Given the description of an element on the screen output the (x, y) to click on. 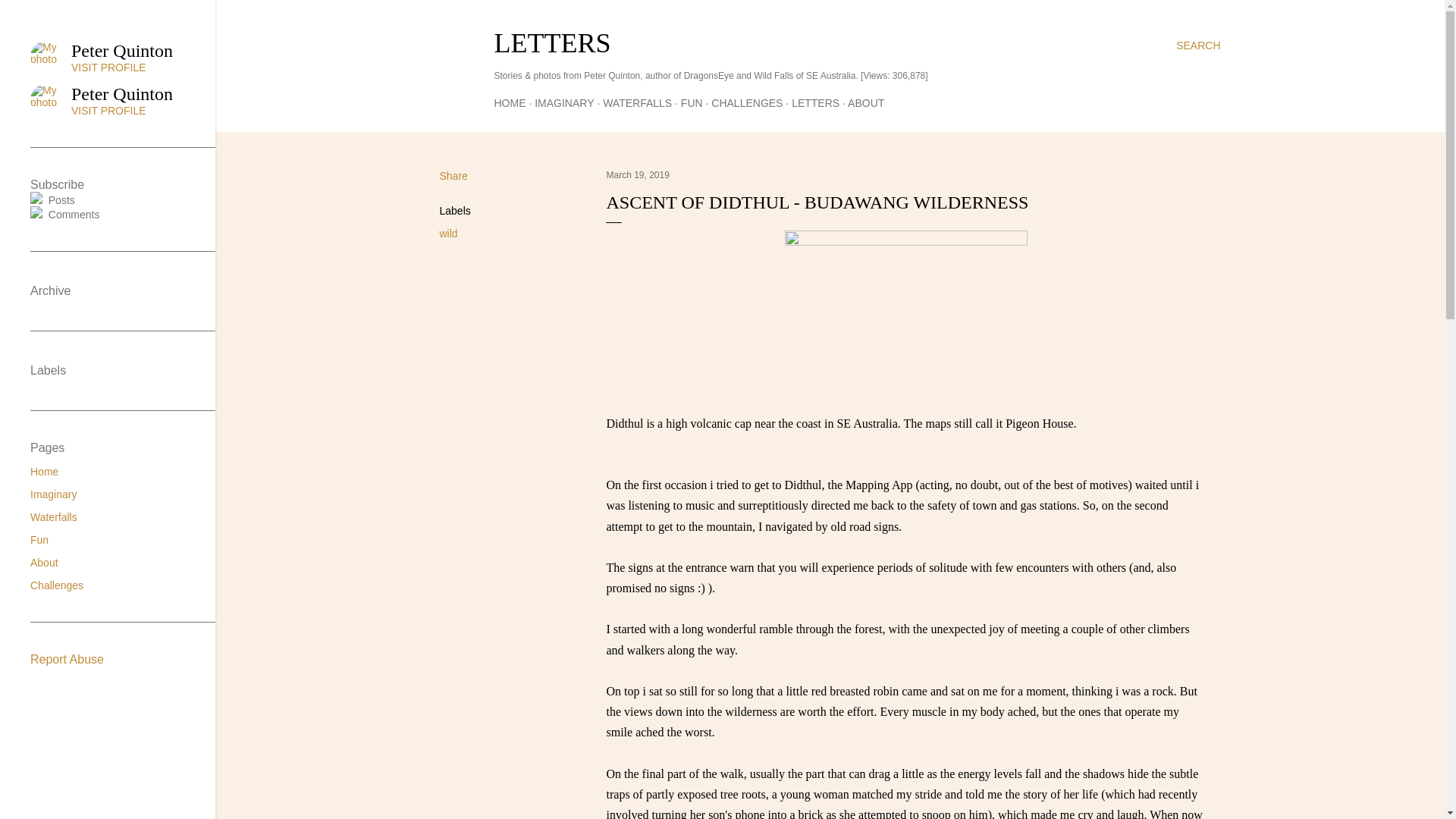
FUN (692, 102)
WATERFALLS (636, 102)
SEARCH (1198, 45)
LETTERS (816, 102)
Share (453, 175)
ABOUT (865, 102)
wild (448, 233)
March 19, 2019 (638, 174)
HOME (510, 102)
CHALLENGES (747, 102)
permanent link (638, 174)
LETTERS (553, 42)
IMAGINARY (564, 102)
